Given the description of an element on the screen output the (x, y) to click on. 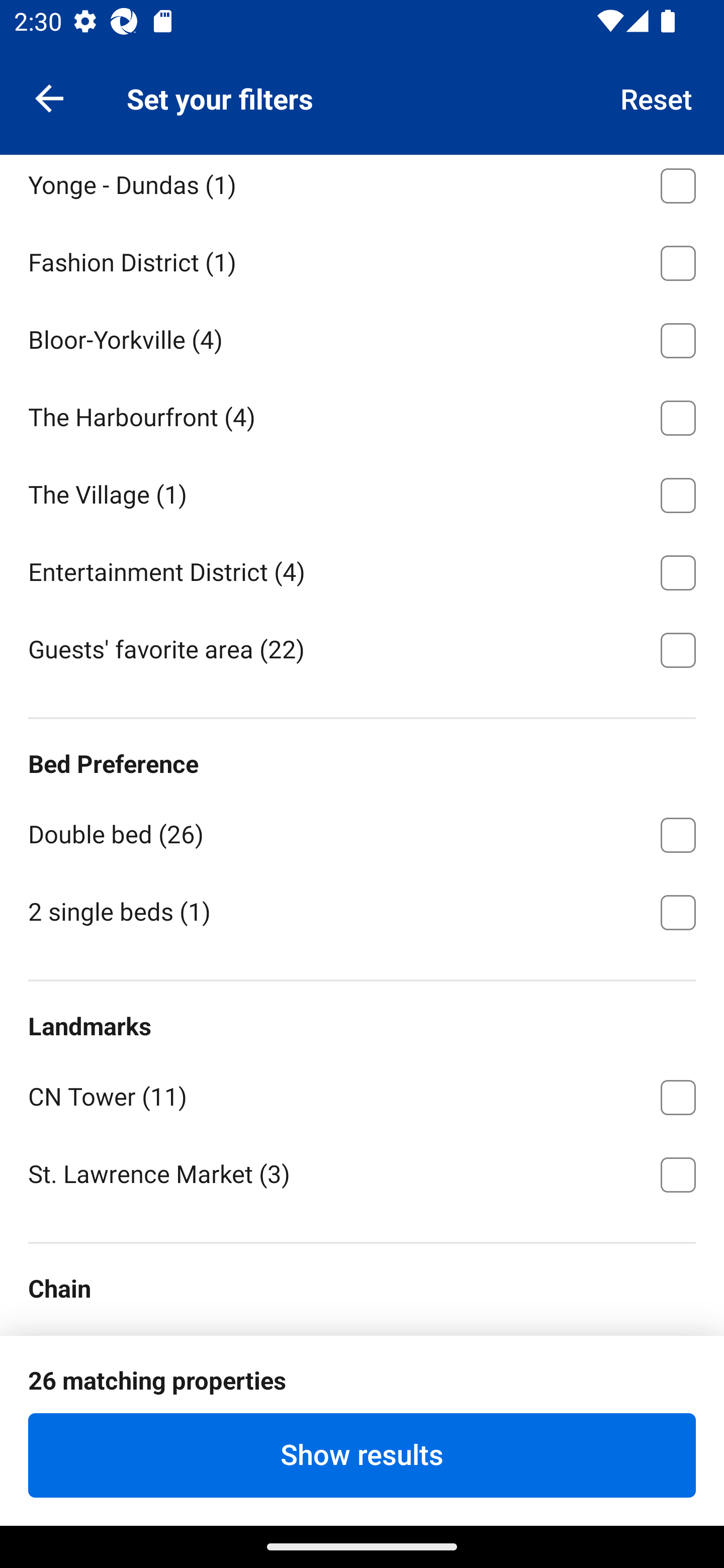
Navigate up (49, 97)
Reset (656, 97)
Financial District ⁦(1) (361, 104)
Yonge - Dundas ⁦(1) (361, 188)
Fashion District ⁦(1) (361, 259)
Bloor-Yorkville ⁦(4) (361, 336)
The Harbourfront ⁦(4) (361, 414)
The Village ⁦(1) (361, 491)
Entertainment District ⁦(4) (361, 568)
Guests' favorite area ⁦(22) (361, 648)
Double bed ⁦(26) (361, 831)
2 single beds ⁦(1) (361, 910)
CN Tower ⁦(11) (361, 1093)
St. Lawrence Market ⁦(3) (361, 1172)
Show results (361, 1454)
